Given the description of an element on the screen output the (x, y) to click on. 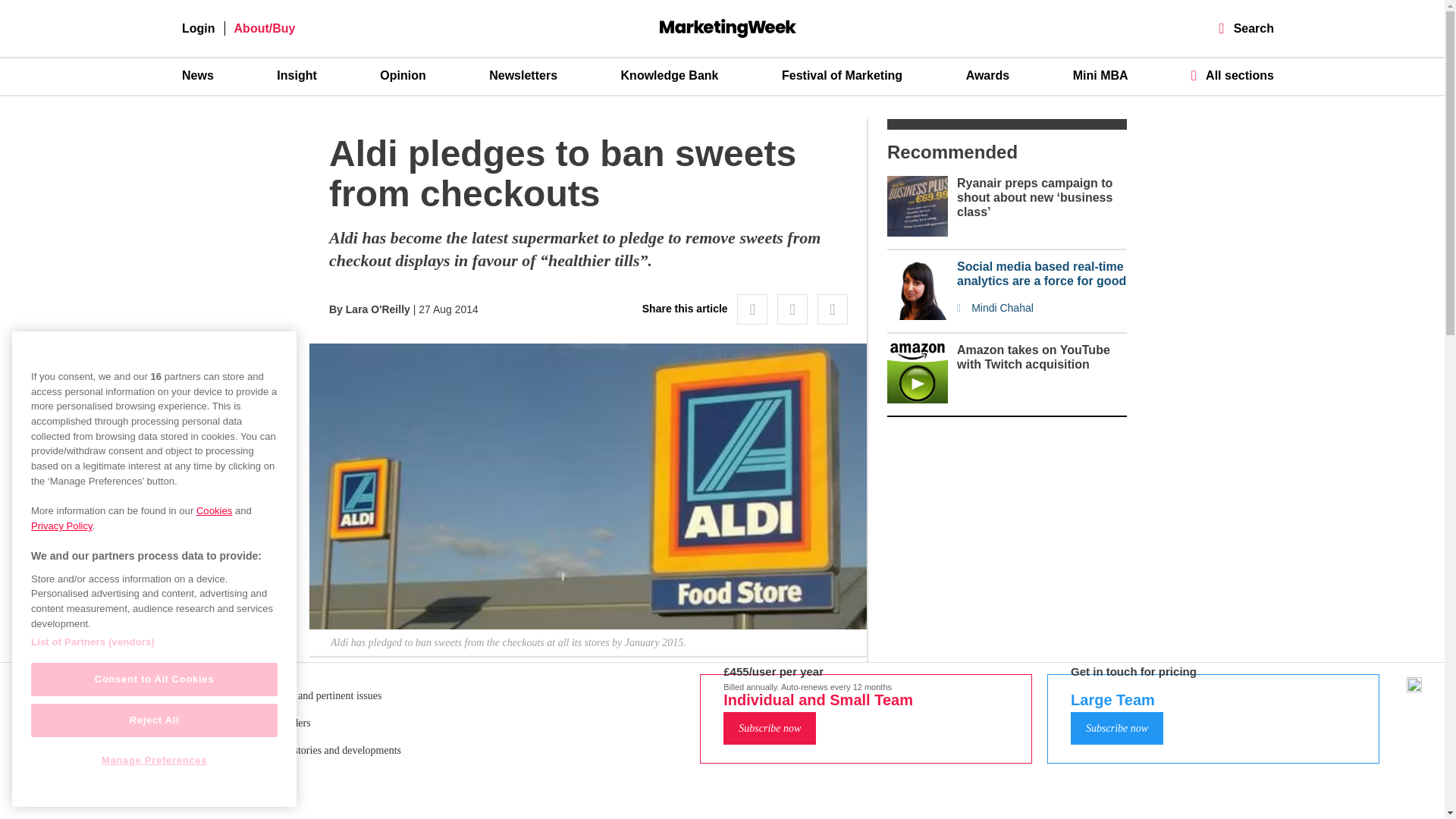
Awards (988, 75)
Amazon takes on YouTube with Twitch acquisition (1032, 357)
All sections (1232, 74)
News (198, 75)
Lara O'Reilly (378, 309)
Login (198, 28)
Mindi Chahal (1041, 308)
Newsletters (523, 75)
Festival of Marketing (841, 75)
Mini MBA (1100, 75)
Search (1247, 28)
Opinion (402, 75)
Social media based real-time analytics are a force for good (1041, 273)
Insight (295, 75)
Search (1247, 28)
